Given the description of an element on the screen output the (x, y) to click on. 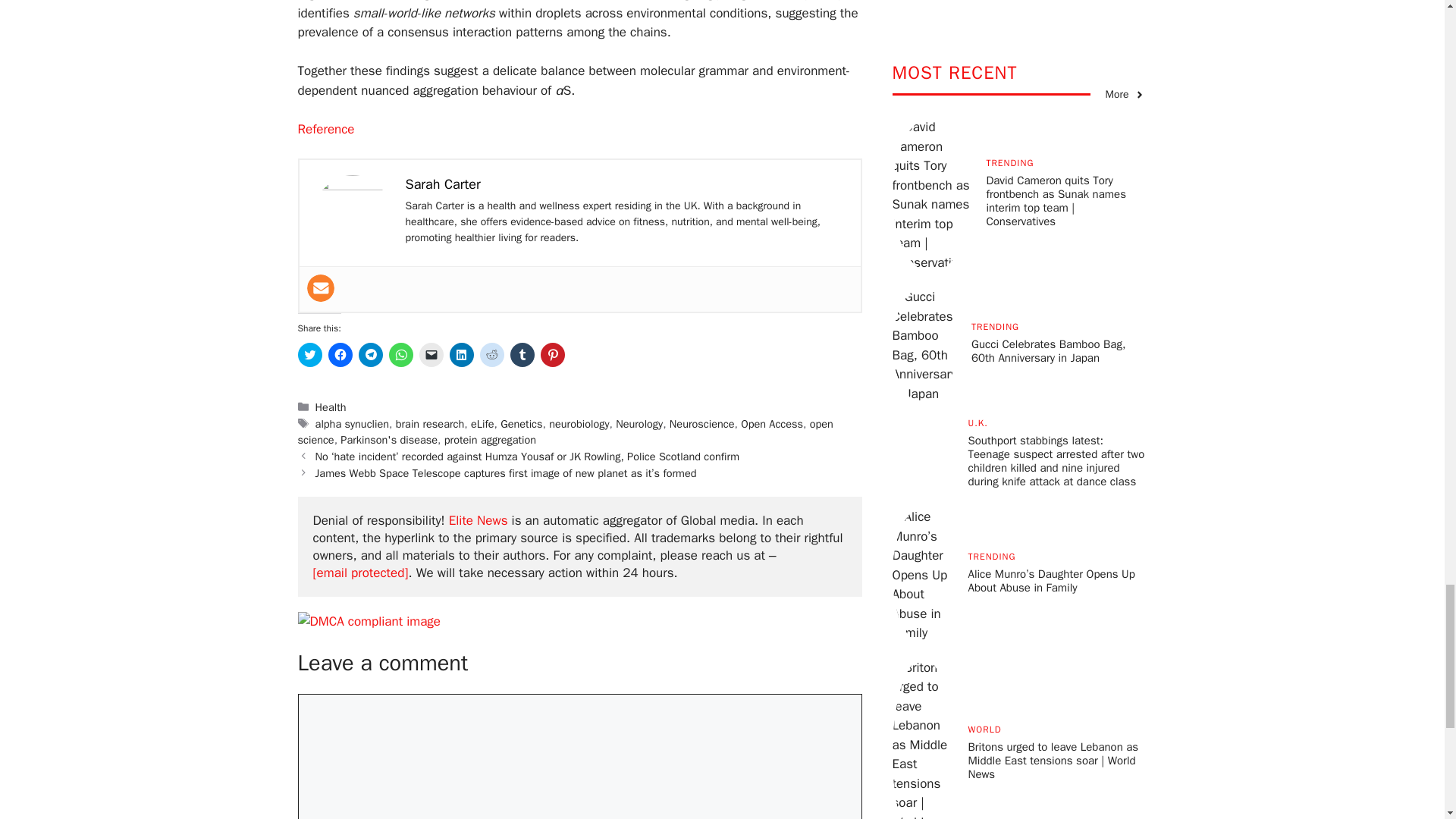
Click to share on Twitter (309, 354)
Click to share on LinkedIn (460, 354)
Health (330, 407)
Neuroscience (702, 423)
Reference (325, 129)
neurobiology (578, 423)
Open Access (772, 423)
Click to share on Telegram (369, 354)
brain research (430, 423)
Click to share on WhatsApp (400, 354)
eLife (482, 423)
Click to share on Facebook (339, 354)
Click to share on Reddit (491, 354)
Genetics (520, 423)
Sarah Carter (442, 184)
